Given the description of an element on the screen output the (x, y) to click on. 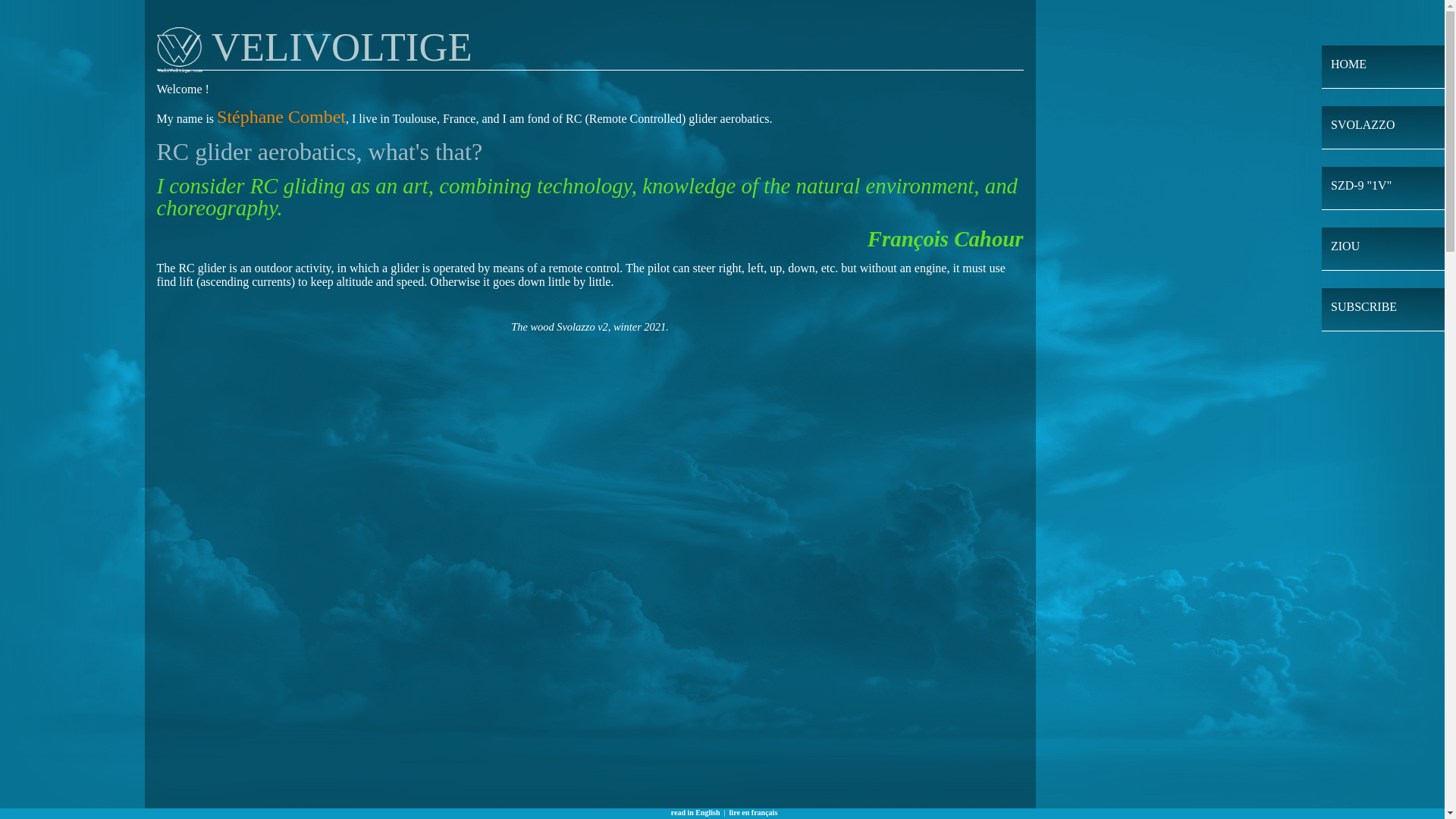
All about this 1m40 wing (1344, 245)
HOME (1348, 63)
SZD-9 "1V" (1360, 185)
My 4m50 wingspan oldtimer (1360, 185)
SUBSCRIBE (1363, 306)
All about this 2m25 aerobatic glider (1362, 124)
read in English (695, 812)
Home page (1348, 63)
ZIOU (1344, 245)
Contact me! (1363, 306)
SVOLAZZO (1362, 124)
English (695, 812)
